Given the description of an element on the screen output the (x, y) to click on. 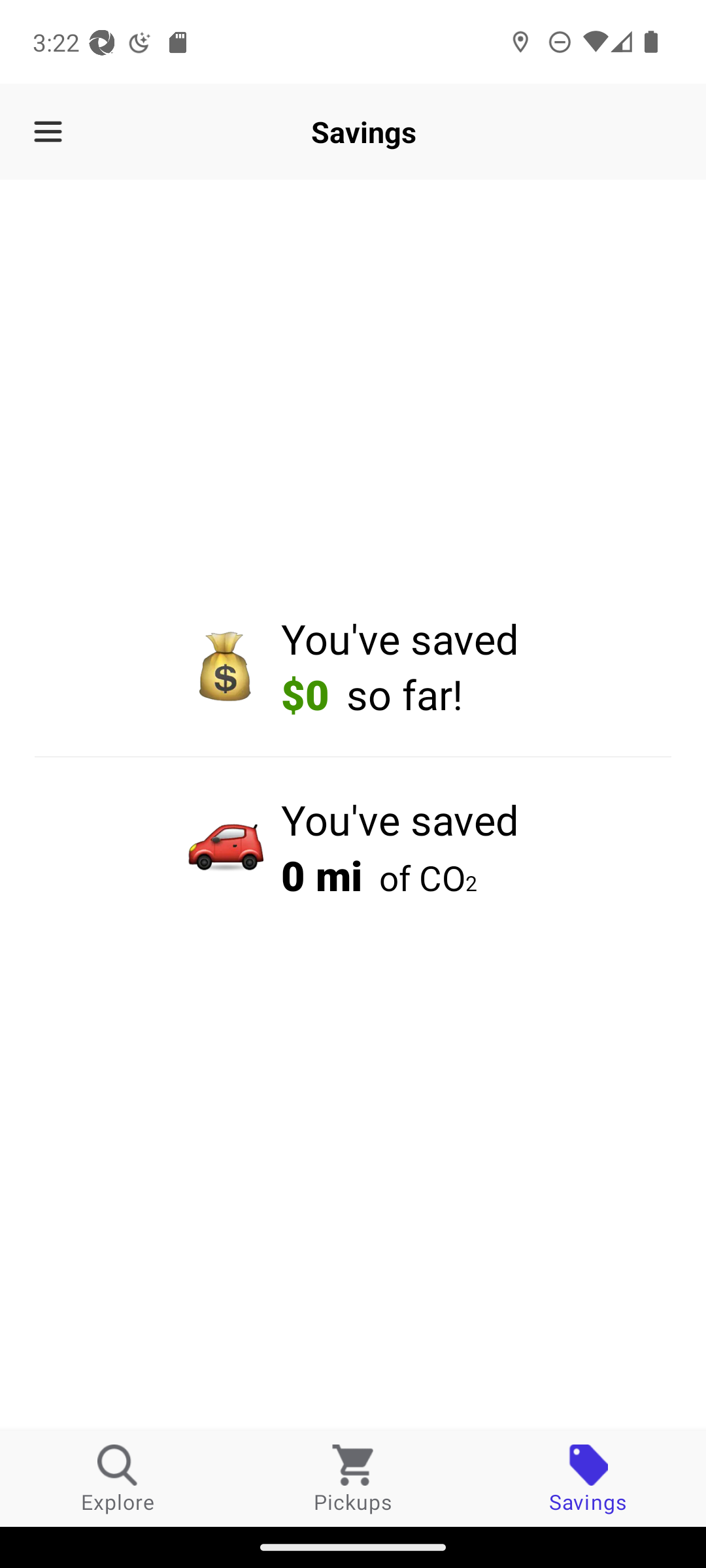
Navigate up (48, 131)
Explore (117, 1478)
Pickups (352, 1478)
